Given the description of an element on the screen output the (x, y) to click on. 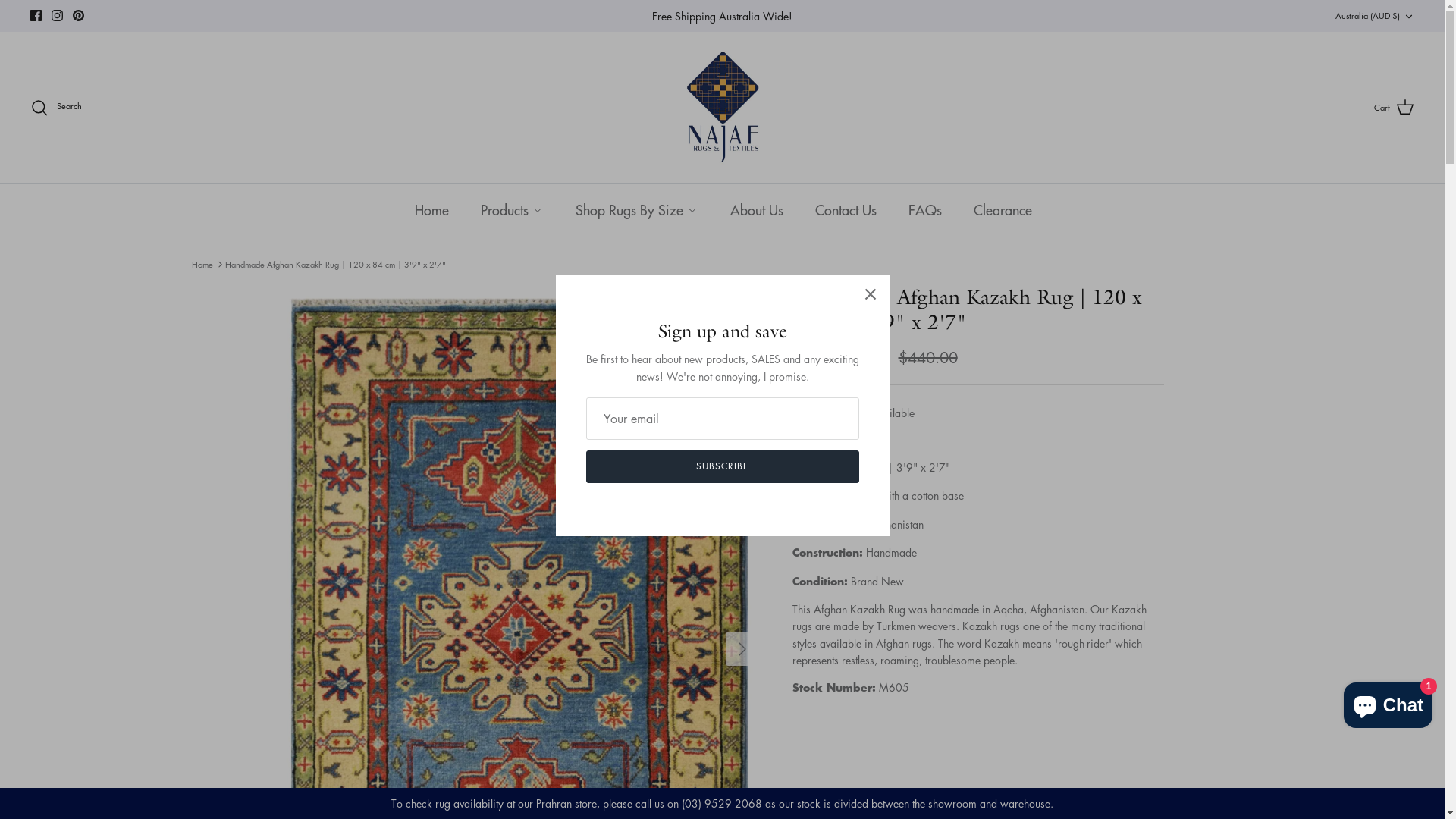
Products Element type: text (511, 208)
Shop Rugs By Size Element type: text (635, 208)
Facebook Element type: text (35, 15)
Shopify online store chat Element type: hover (1388, 702)
Australia (AUD $)
Down Element type: text (1374, 15)
About Us Element type: text (754, 208)
Instagram Element type: text (56, 15)
Clearance Element type: text (1002, 208)
Home Element type: text (201, 263)
SUBSCRIBE Element type: text (721, 466)
Home Element type: text (430, 208)
FAQs Element type: text (924, 208)
Contact Us Element type: text (844, 208)
Pinterest Element type: text (78, 15)
Handmade Afghan Kazakh Rug | 120 x 84 cm | 3'9" x 2'7" Element type: text (335, 263)
Search Element type: text (55, 107)
Cart Element type: text (1394, 107)
Najaf Rugs & Textile Element type: hover (722, 107)
RIGHT Element type: text (741, 648)
